Given the description of an element on the screen output the (x, y) to click on. 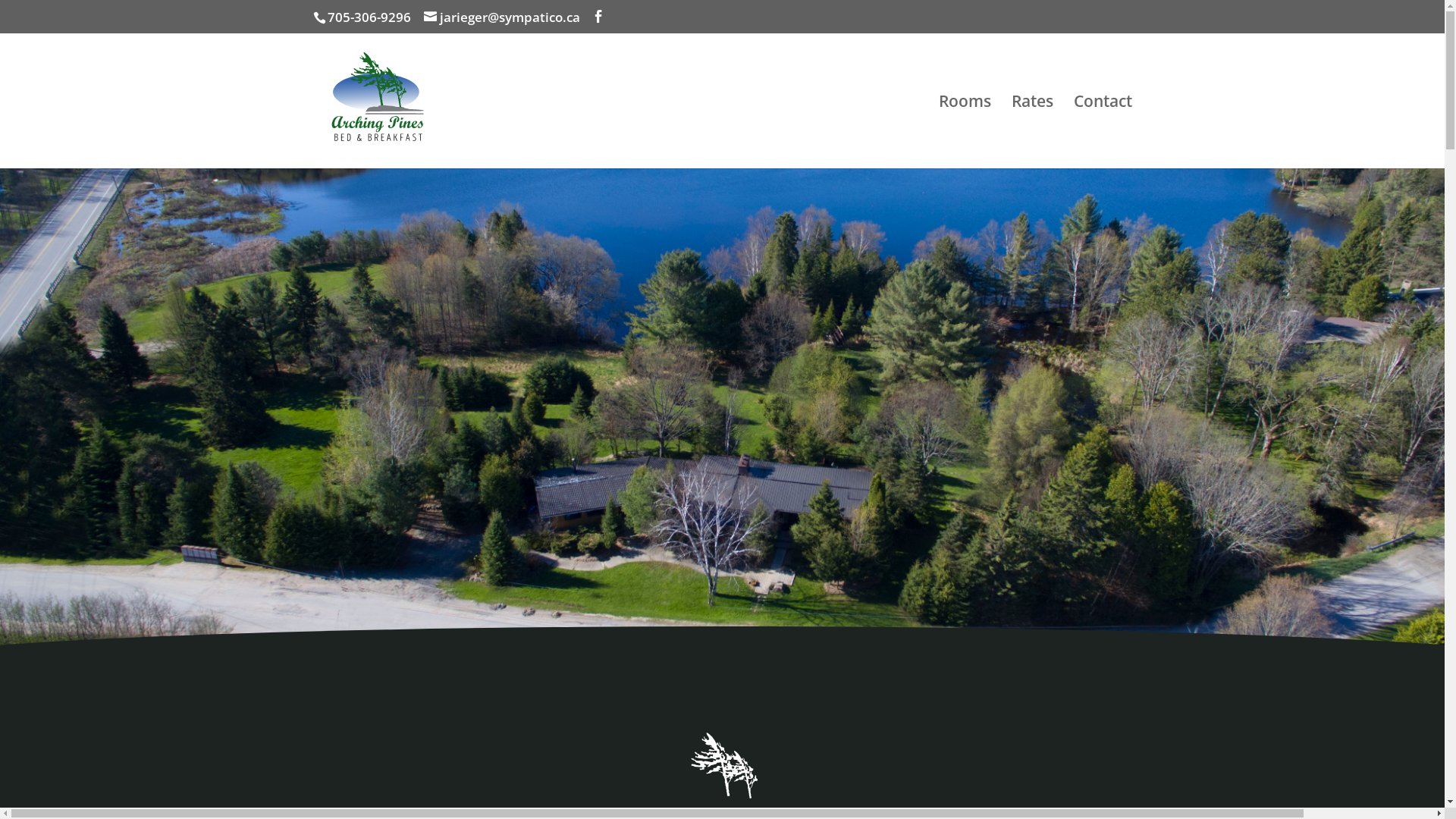
Rates Element type: text (1032, 131)
Contact Element type: text (1102, 131)
Rooms Element type: text (964, 131)
jarieger@sympatico.ca Element type: text (501, 16)
